Given the description of an element on the screen output the (x, y) to click on. 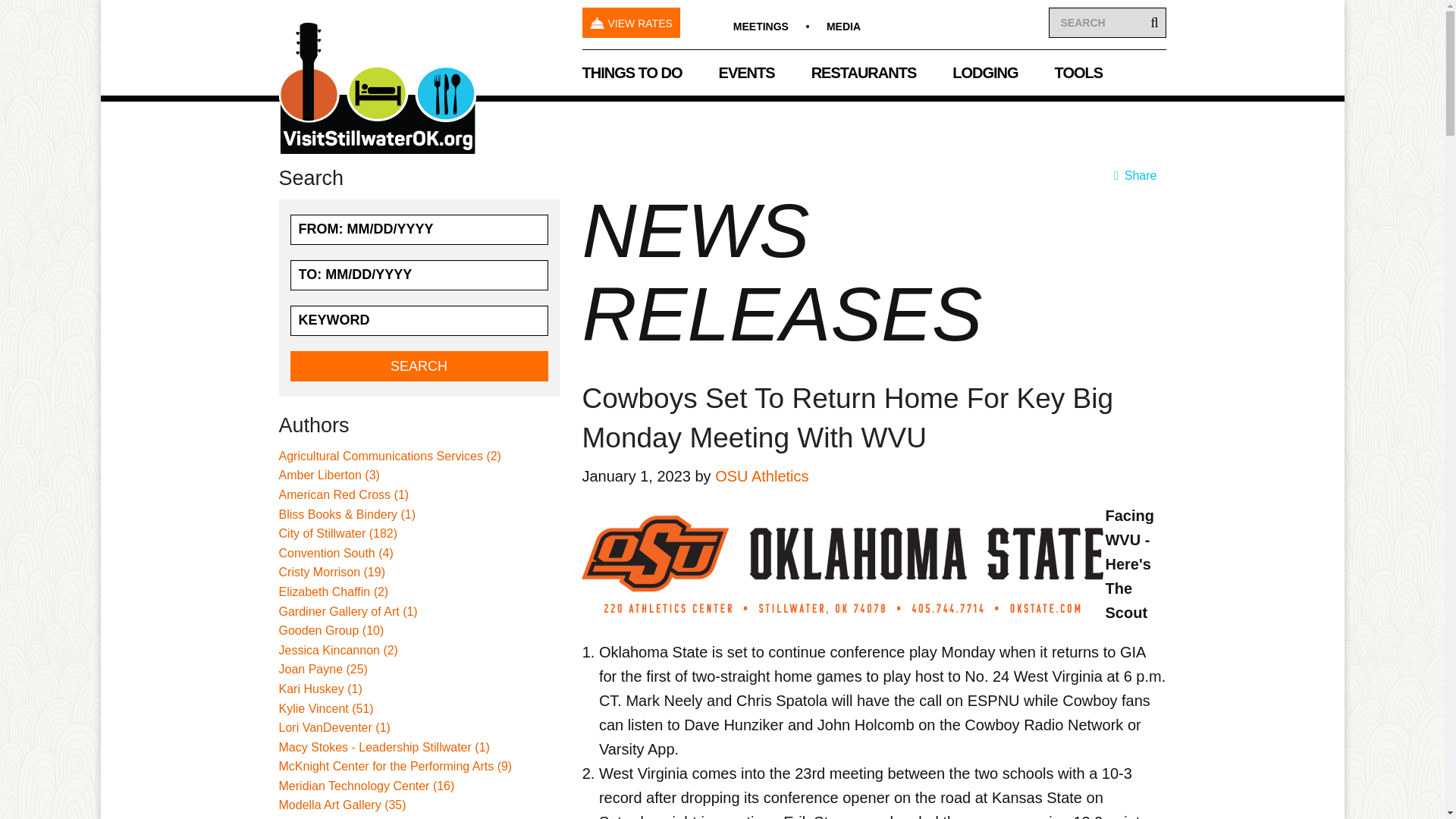
Media (843, 26)
MEDIA (843, 26)
Meetings (761, 26)
VIEW RATES (630, 22)
EVENTS (746, 72)
MEETINGS (761, 26)
THINGS TO DO (632, 72)
Search (418, 366)
